Given the description of an element on the screen output the (x, y) to click on. 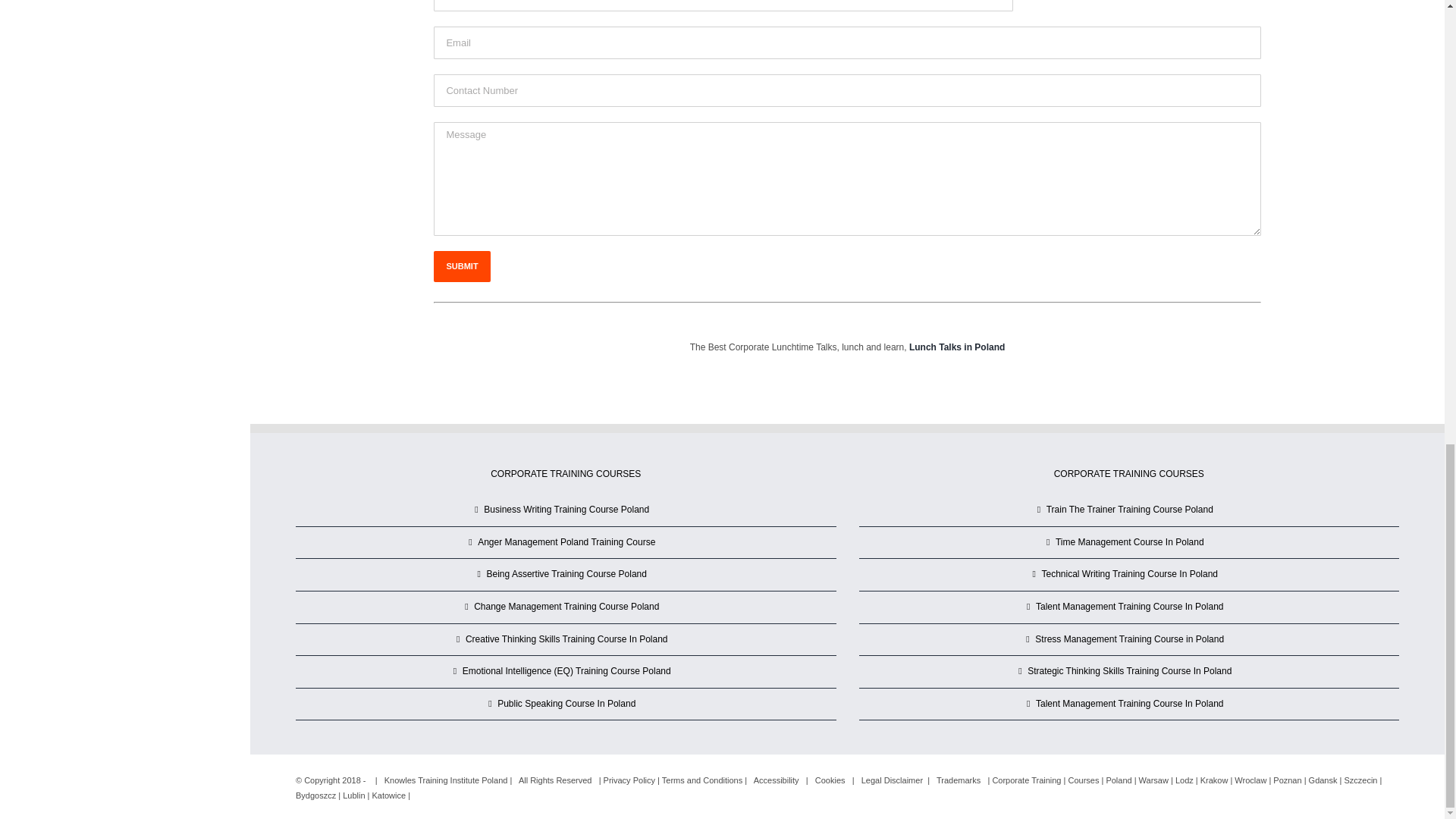
Knowles Training Institute Poland (446, 779)
Being Assertive Training Course Poland (566, 574)
Technical Writing Training Course In Poland (1129, 574)
Privacy Policy (629, 779)
Talent Management Training Course In Poland (1129, 704)
Accessibility (776, 779)
Change Management Training Course Poland (566, 606)
Time Management Course In Poland (1129, 542)
Lunch Talks in Poland (956, 347)
submit (461, 265)
